Given the description of an element on the screen output the (x, y) to click on. 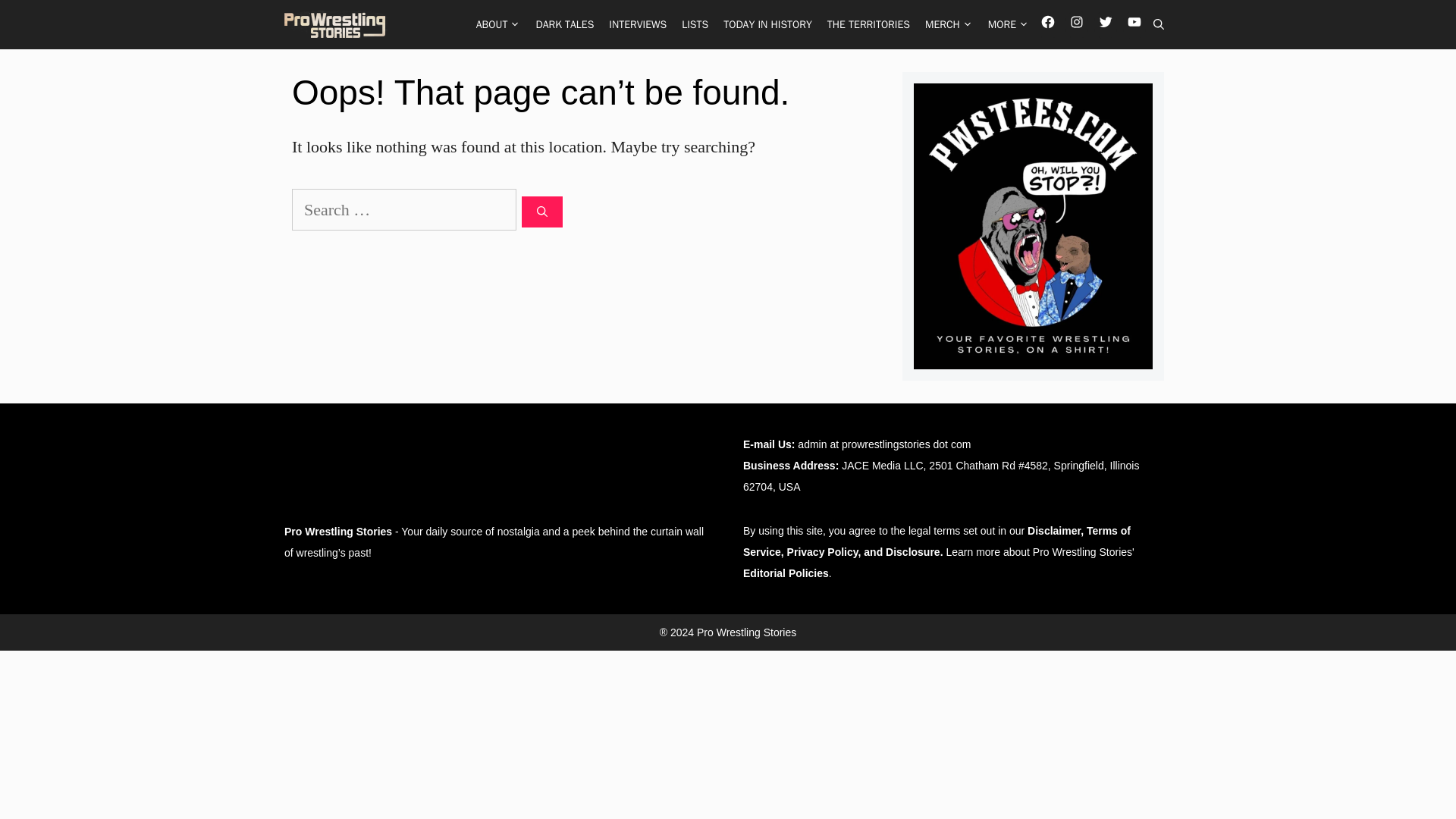
Pro Wrestling Stories (335, 24)
Search for: (404, 209)
